Given the description of an element on the screen output the (x, y) to click on. 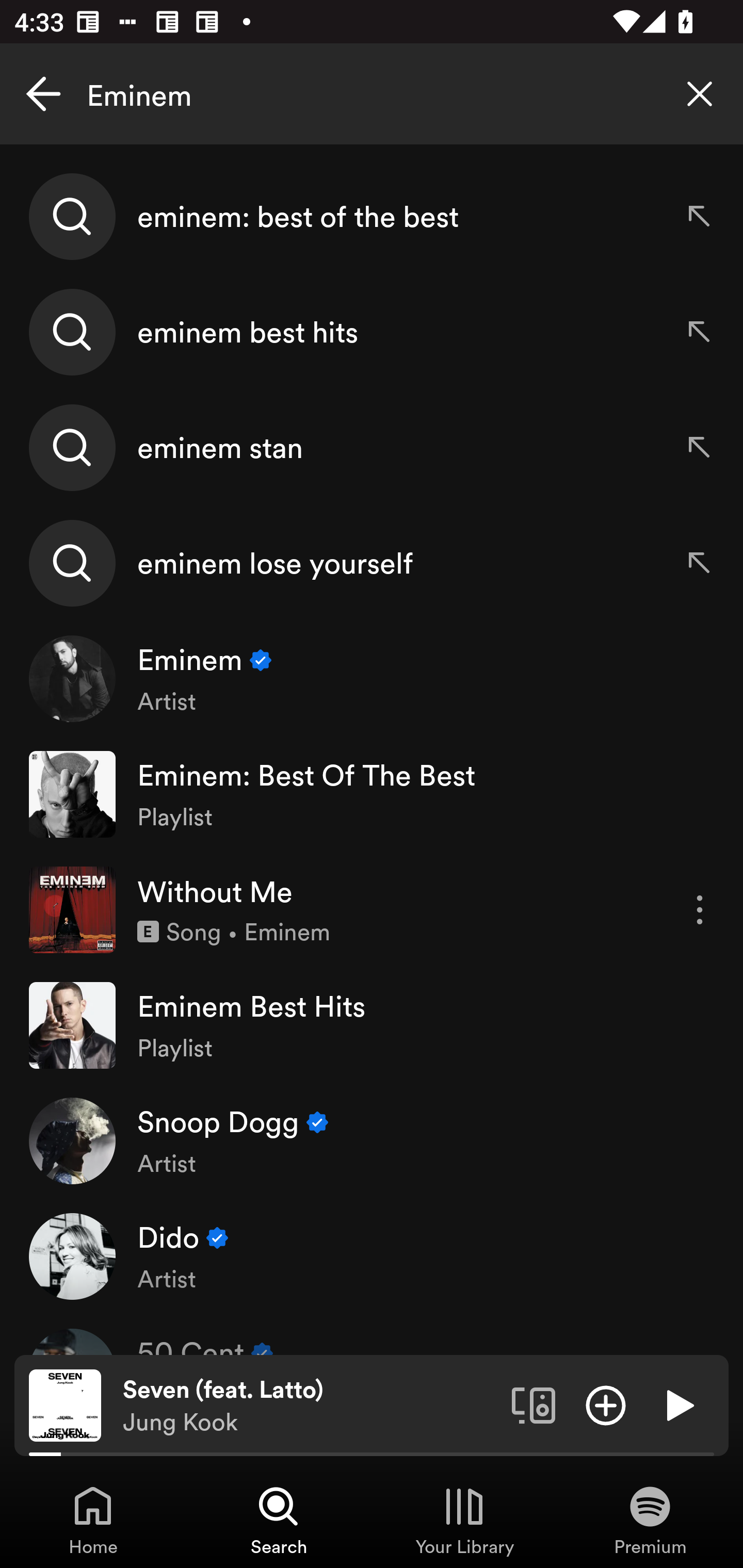
Eminem (371, 93)
Cancel (43, 93)
Clear search query (699, 93)
eminem: best of the best (371, 216)
eminem best hits (371, 332)
eminem stan (371, 447)
eminem lose yourself (371, 562)
Eminem Verified Artist (371, 678)
Eminem: Best Of The Best Playlist (371, 793)
More options for song Without Me (699, 910)
Eminem Best Hits Playlist (371, 1025)
Snoop Dogg Verified Artist (371, 1140)
Dido Verified Artist (371, 1255)
Seven (feat. Latto) Jung Kook (309, 1405)
The cover art of the currently playing track (64, 1404)
Connect to a device. Opens the devices menu (533, 1404)
Add item (605, 1404)
Play (677, 1404)
Home, Tab 1 of 4 Home Home (92, 1519)
Search, Tab 2 of 4 Search Search (278, 1519)
Your Library, Tab 3 of 4 Your Library Your Library (464, 1519)
Premium, Tab 4 of 4 Premium Premium (650, 1519)
